Given the description of an element on the screen output the (x, y) to click on. 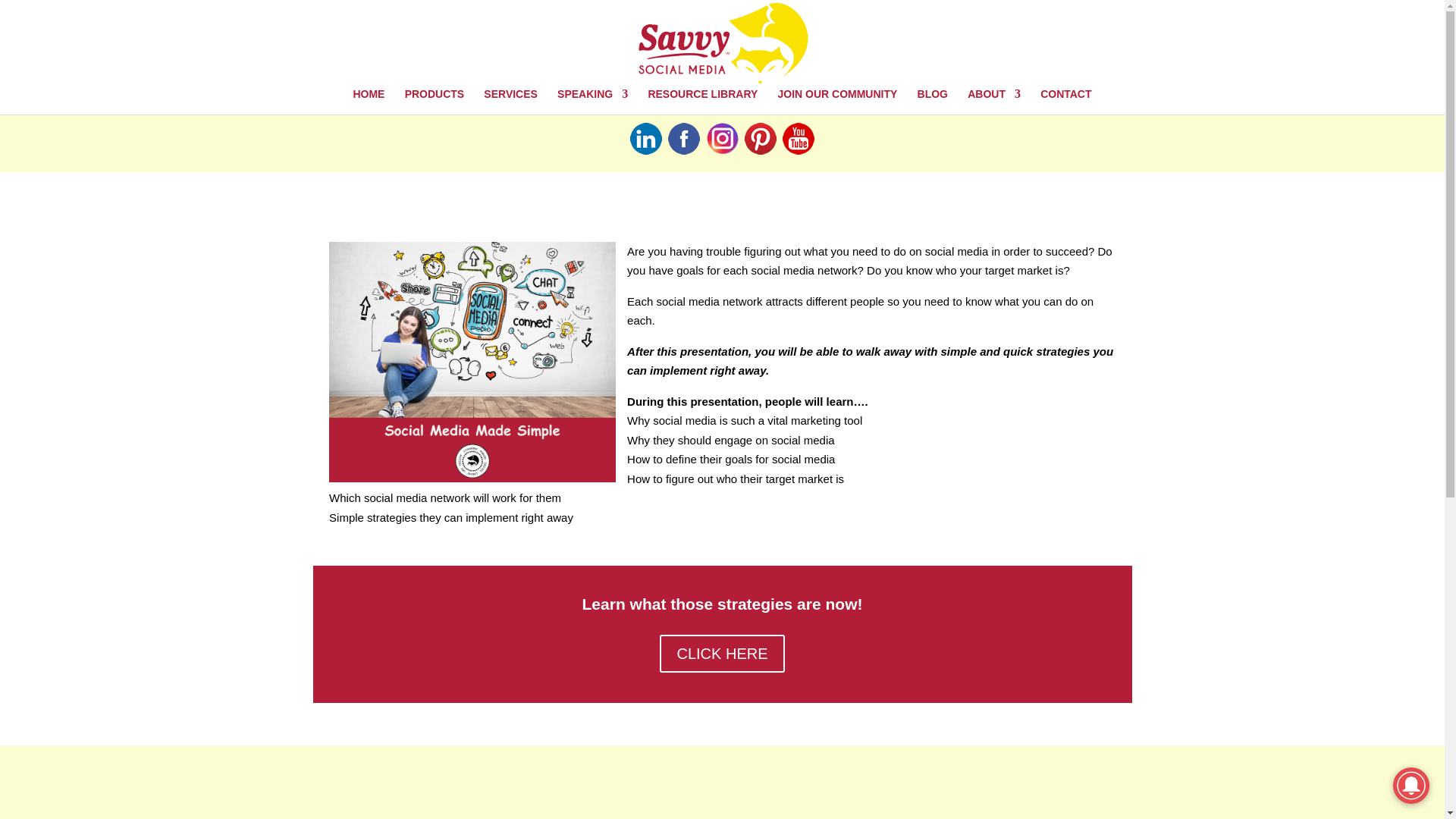
RESOURCE LIBRARY (702, 101)
SERVICES (510, 101)
SPEAKING (592, 101)
JOIN OUR COMMUNITY (836, 101)
BLOG (932, 101)
CONTACT (1065, 101)
CLICK HERE (721, 653)
PRODUCTS (434, 101)
ABOUT (994, 101)
HOME (368, 101)
